Given the description of an element on the screen output the (x, y) to click on. 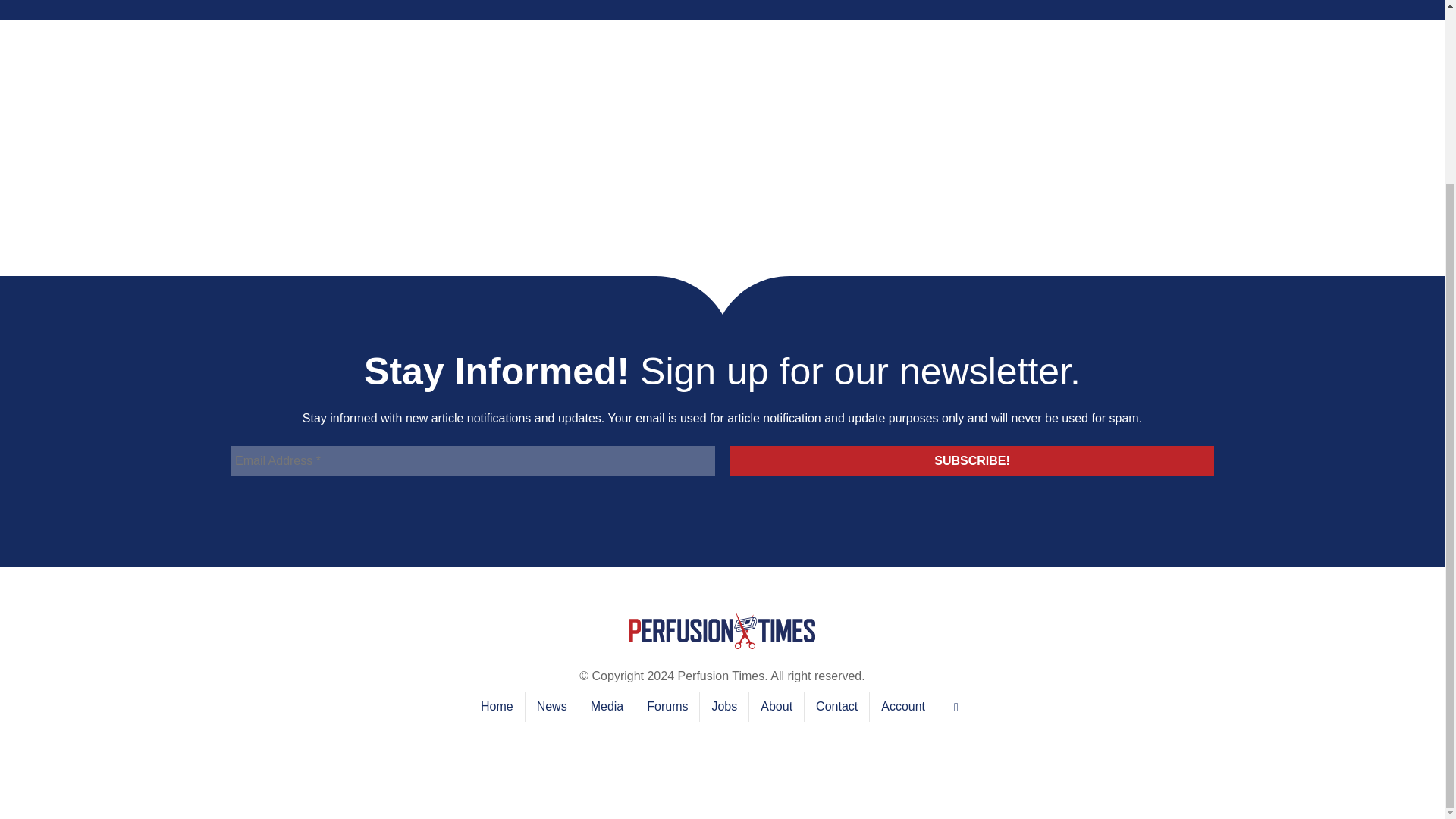
About (776, 706)
News (551, 706)
Media (606, 706)
Account (902, 706)
Subscribe! (970, 460)
Subscribe! (970, 460)
Forums (666, 706)
Contact (837, 706)
Jobs (724, 706)
Email Address (472, 460)
Home (496, 706)
